Given the description of an element on the screen output the (x, y) to click on. 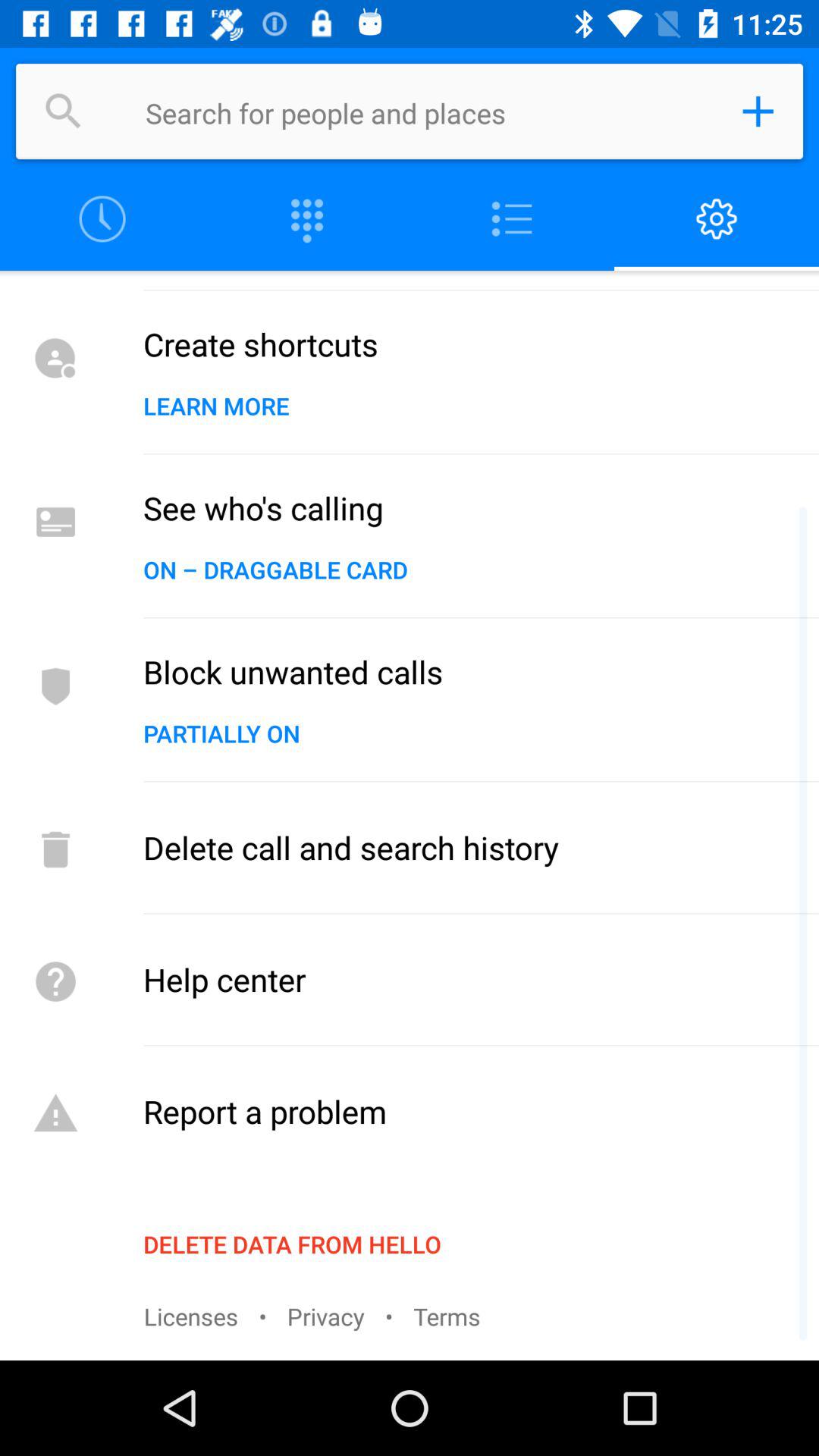
click privacy (325, 1316)
